Given the description of an element on the screen output the (x, y) to click on. 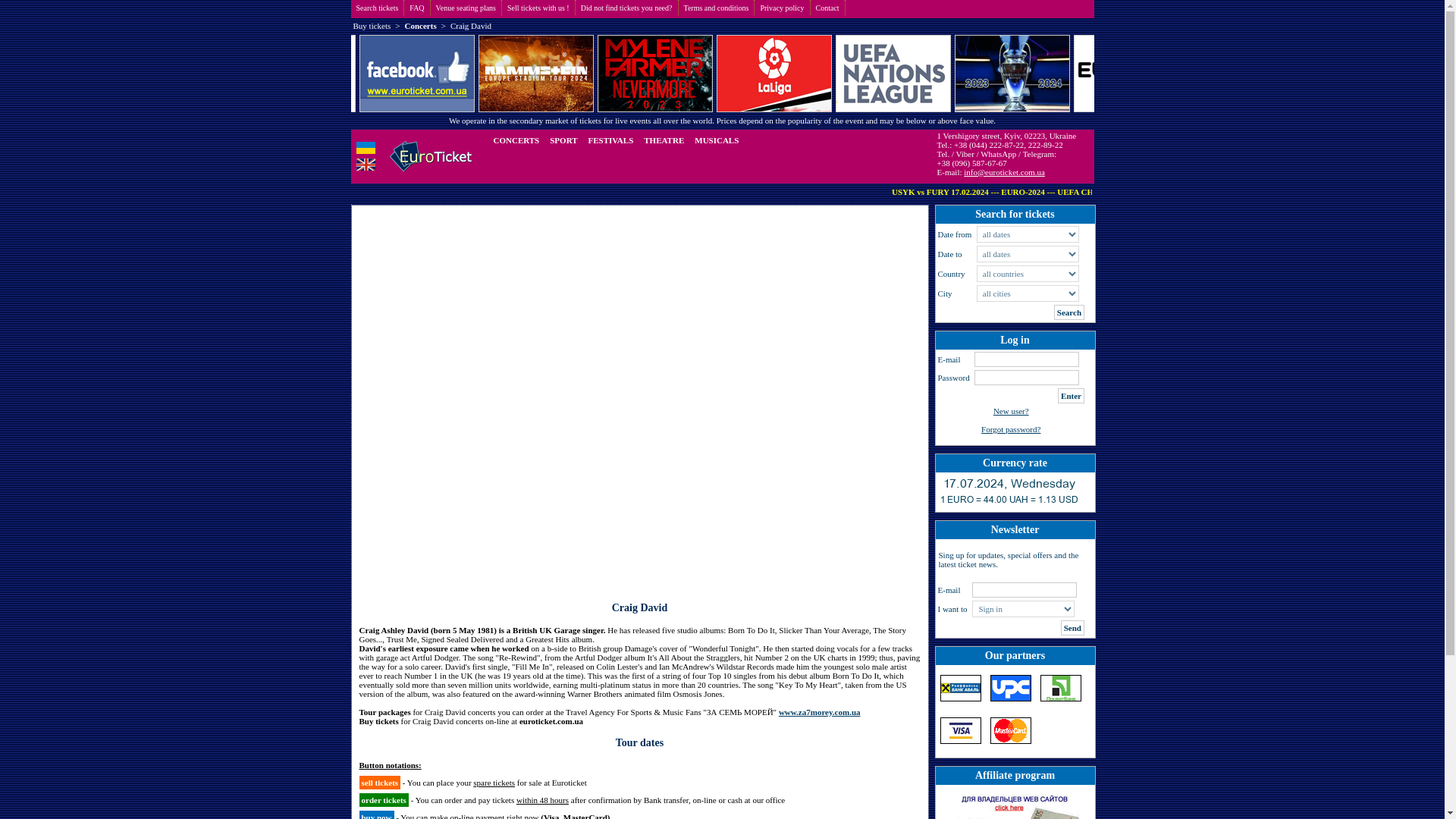
Request for tickets (626, 8)
CONCERTS (515, 139)
Send (1072, 627)
FESTIVALS (610, 139)
www.za7morey.com.ua (819, 711)
THEATRE (663, 139)
Contact (827, 8)
Venues info (465, 8)
Sell your tickets? Do you want to sell tickets? (537, 8)
MUSICALS (716, 139)
Venue seating plans (465, 8)
Contacts (827, 8)
Privacy policy (781, 8)
SPORT (563, 139)
